Given the description of an element on the screen output the (x, y) to click on. 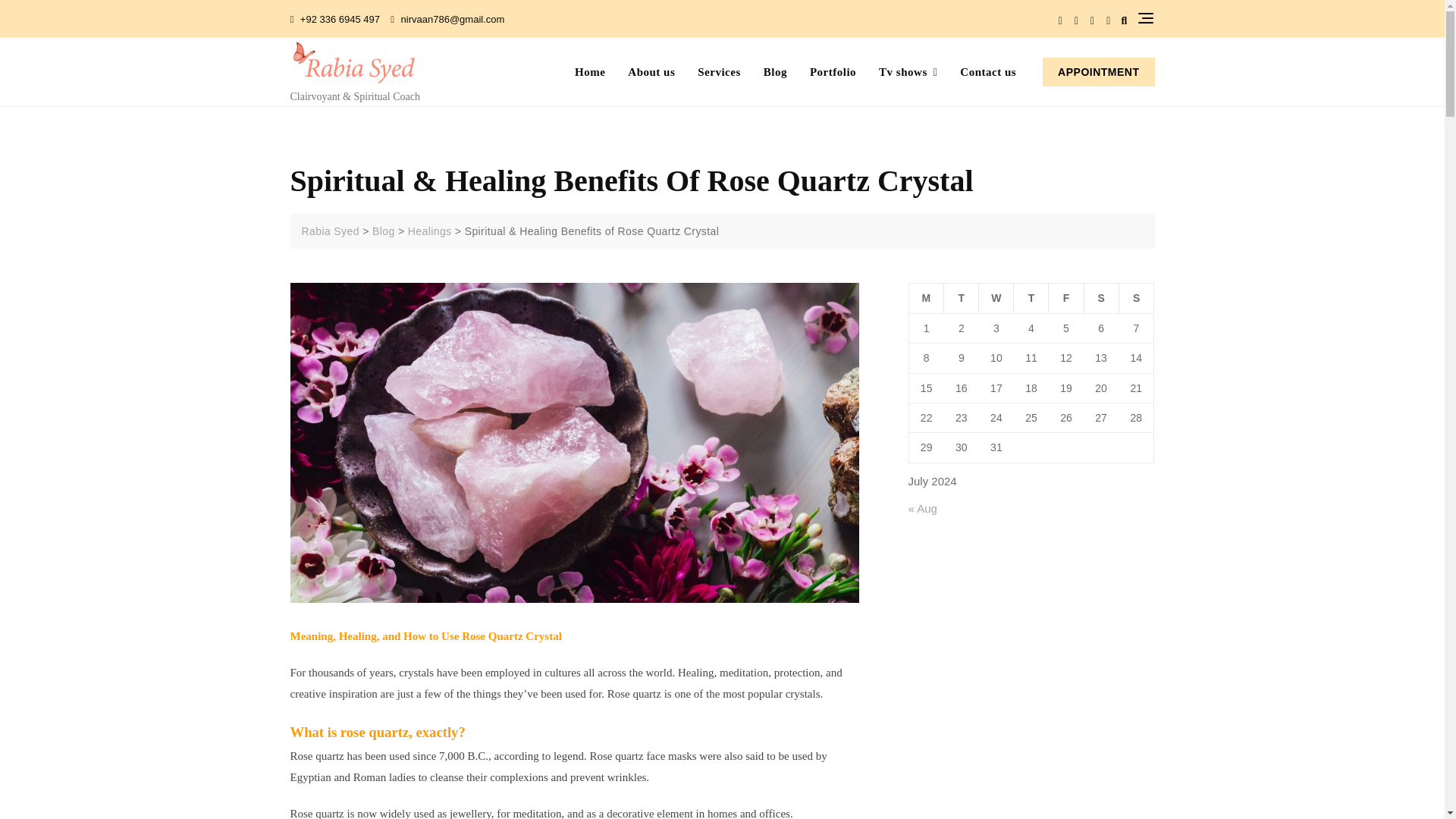
Sunday (1136, 297)
Saturday (1100, 297)
Thursday (1030, 297)
Go to Blog. (383, 231)
Monday (925, 297)
Go to Rabia Syed. (330, 231)
Friday (1065, 297)
Wednesday (995, 297)
Go to the Healings Category archives. (429, 231)
Tuesday (960, 297)
